Given the description of an element on the screen output the (x, y) to click on. 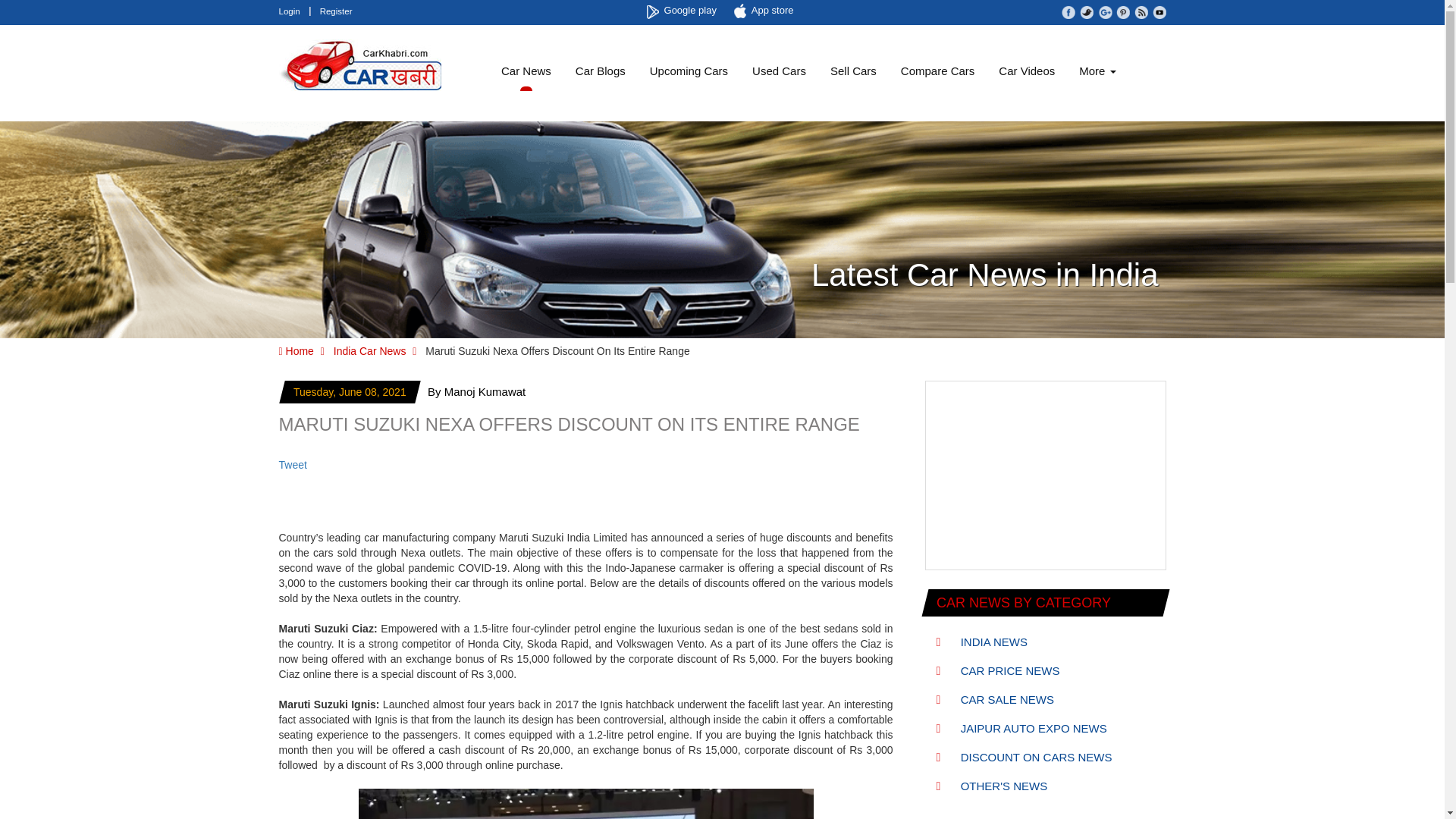
App store (765, 10)
Other's News (991, 785)
More (1096, 70)
Login (289, 11)
INDIA NEWS (981, 641)
India News (981, 641)
Car Sale News (995, 699)
Home (296, 350)
India Car News (369, 350)
JAIPUR AUTO EXPO NEWS (1021, 728)
